Given the description of an element on the screen output the (x, y) to click on. 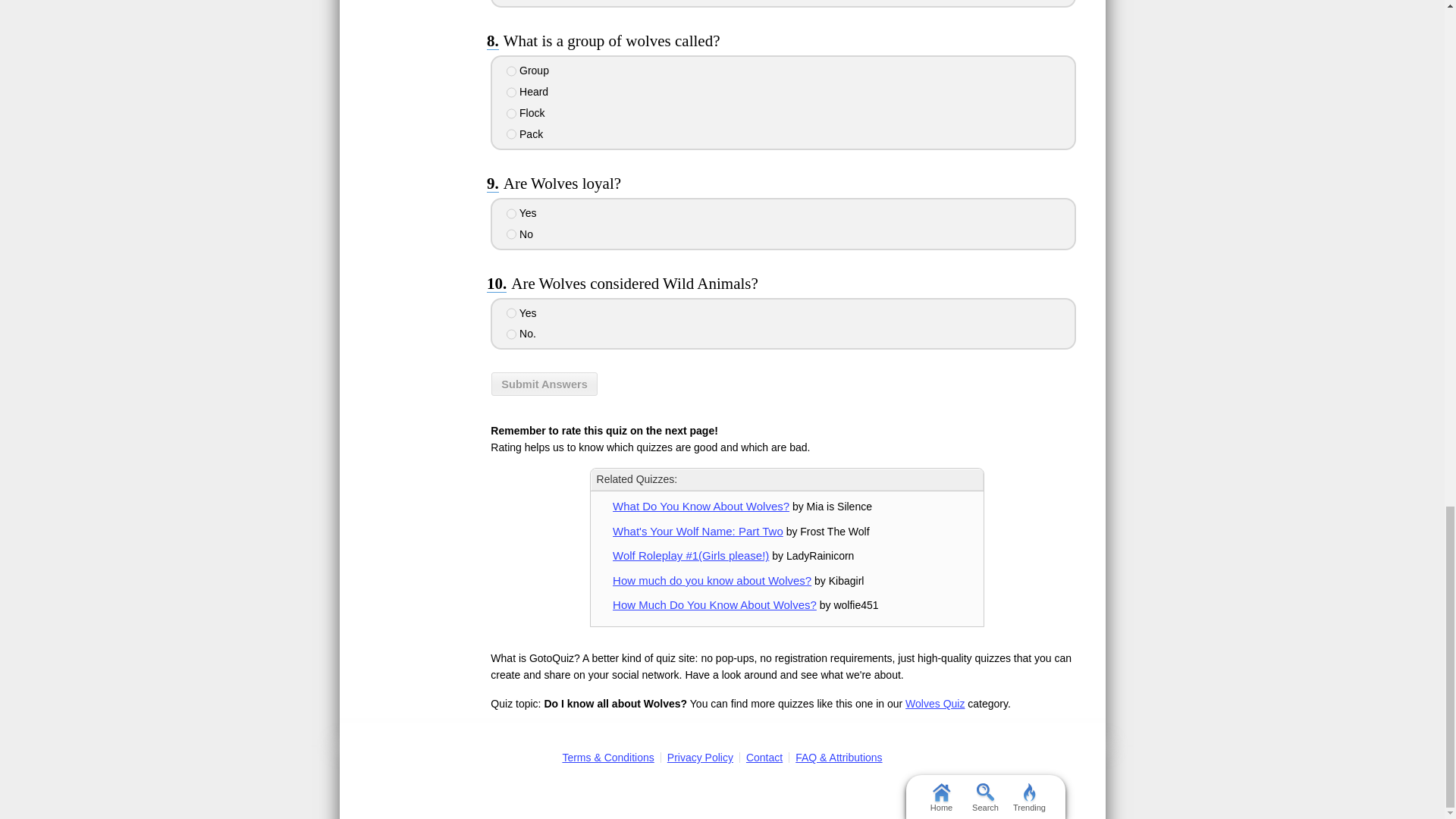
Submit Answers (544, 383)
Wolves Quiz (934, 703)
How much do you know about Wolves? (711, 580)
Contact (764, 757)
How Much Do You Know About Wolves? (714, 604)
What's Your Wolf Name: Part Two (697, 530)
What Do You Know About Wolves? (700, 505)
Privacy Policy (699, 757)
